Given the description of an element on the screen output the (x, y) to click on. 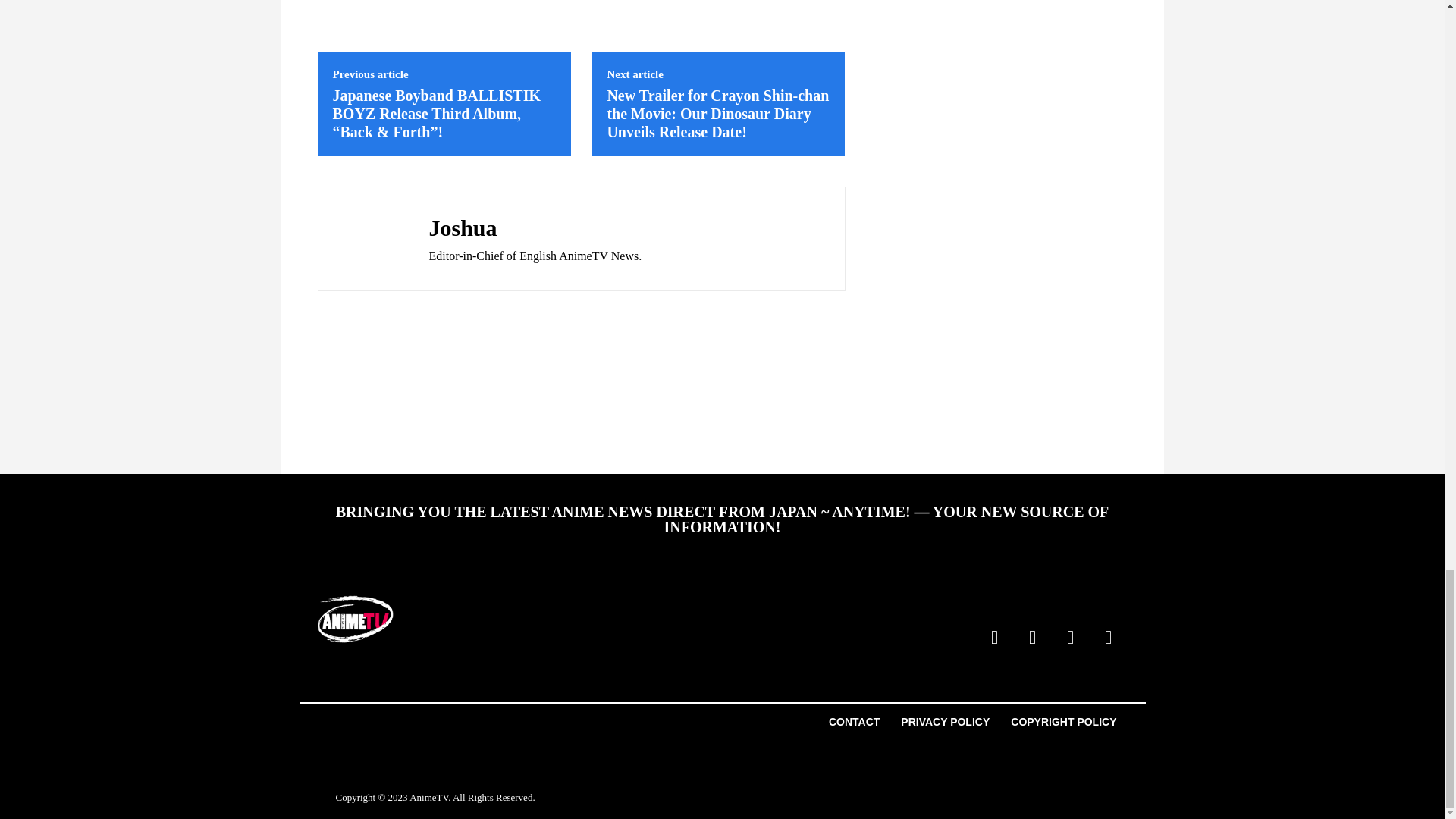
Joshua (535, 227)
Joshua (369, 238)
